Given the description of an element on the screen output the (x, y) to click on. 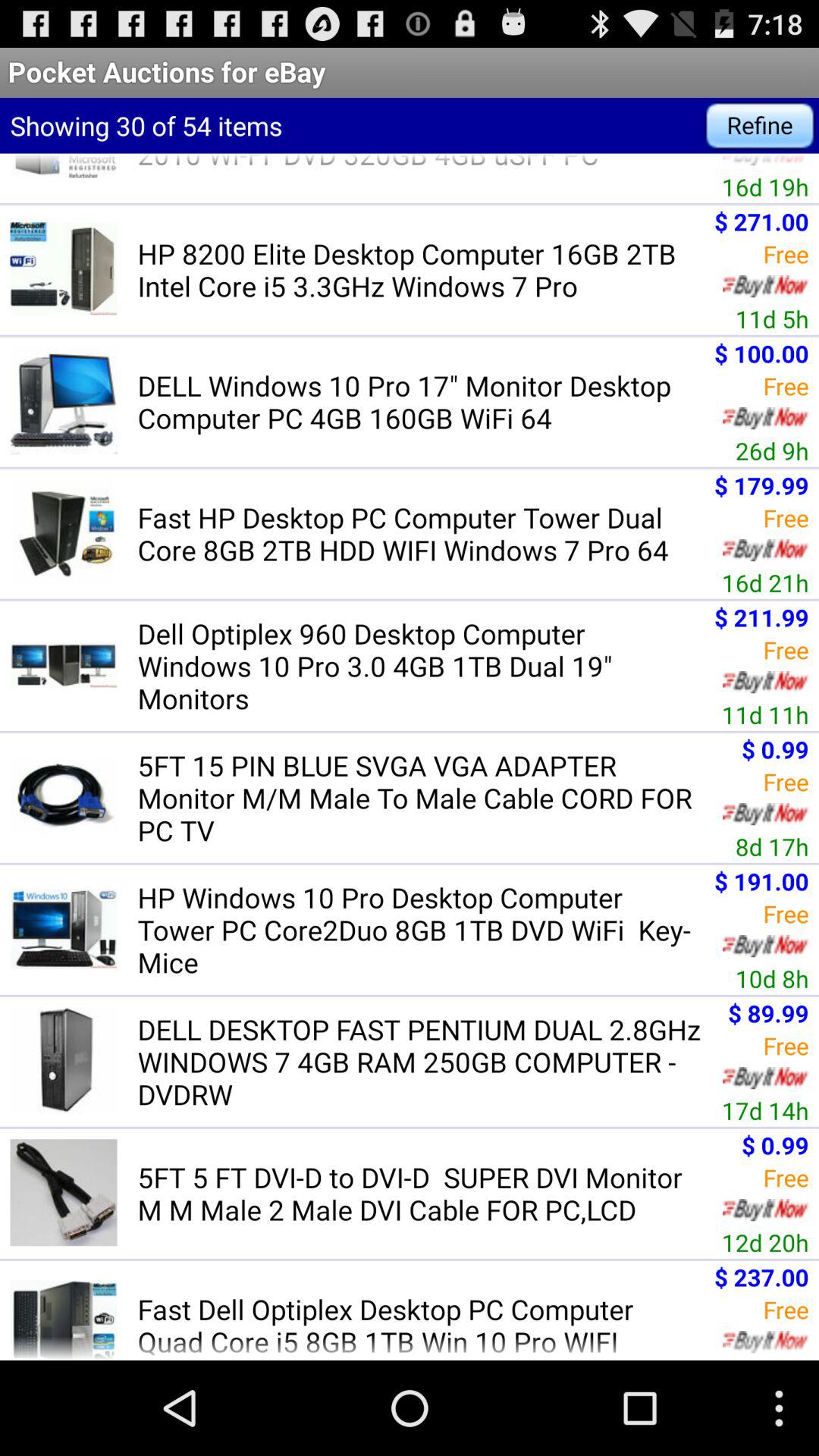
scroll to refine button (759, 125)
